Given the description of an element on the screen output the (x, y) to click on. 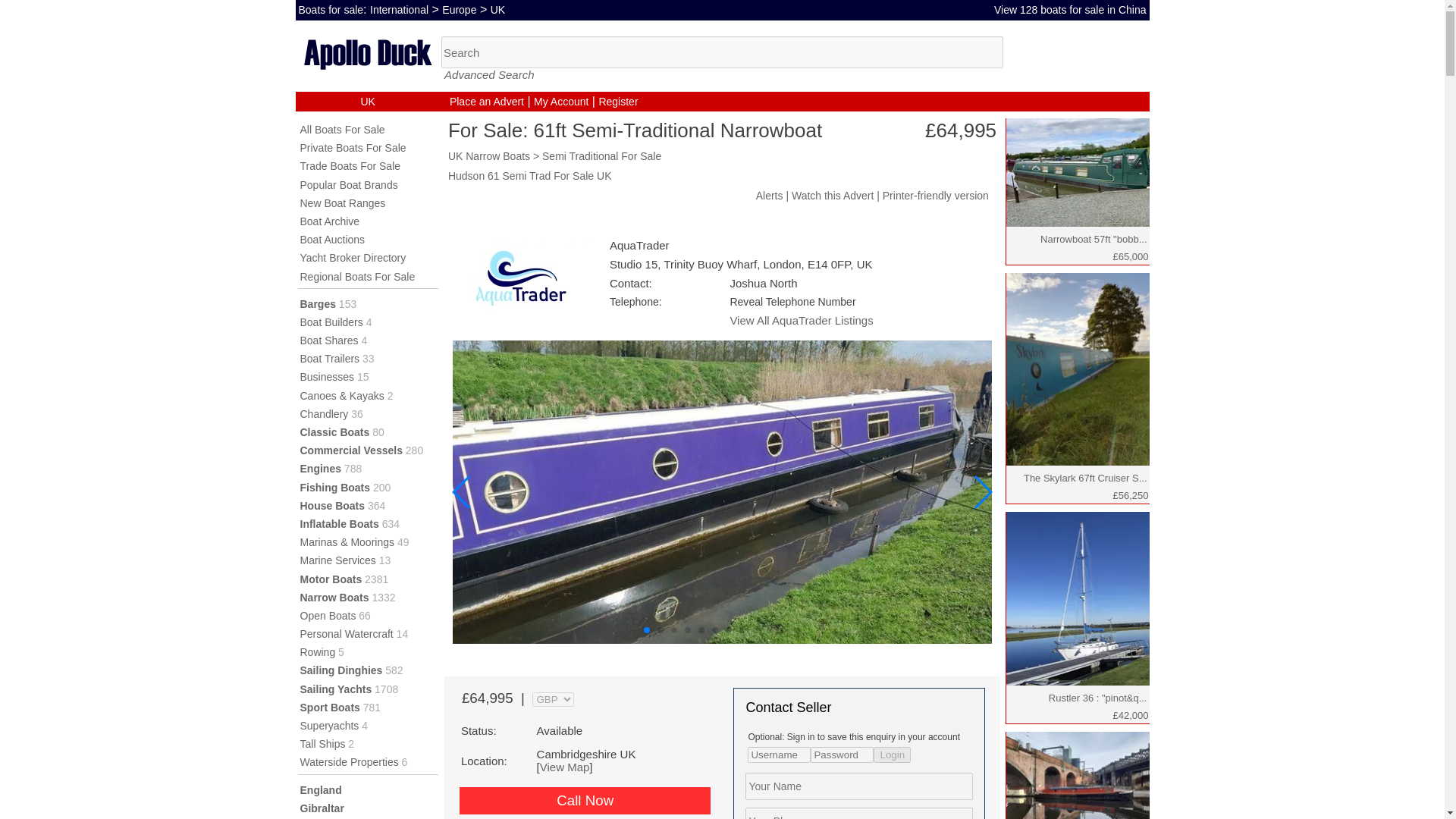
Place an Advert (486, 101)
Boat Search (722, 51)
Yacht Broker Directory (352, 257)
Commercial Vessels (351, 450)
Boat Auctions (332, 239)
UK (366, 101)
Marine Services (337, 560)
My Account (561, 101)
Register (617, 101)
Trade Boats For Sale (350, 165)
Regional Boats For Sale (356, 275)
Popular Boat Brands (348, 184)
Motor Boats (330, 579)
Boat Trailers (329, 358)
International (398, 9)
